Given the description of an element on the screen output the (x, y) to click on. 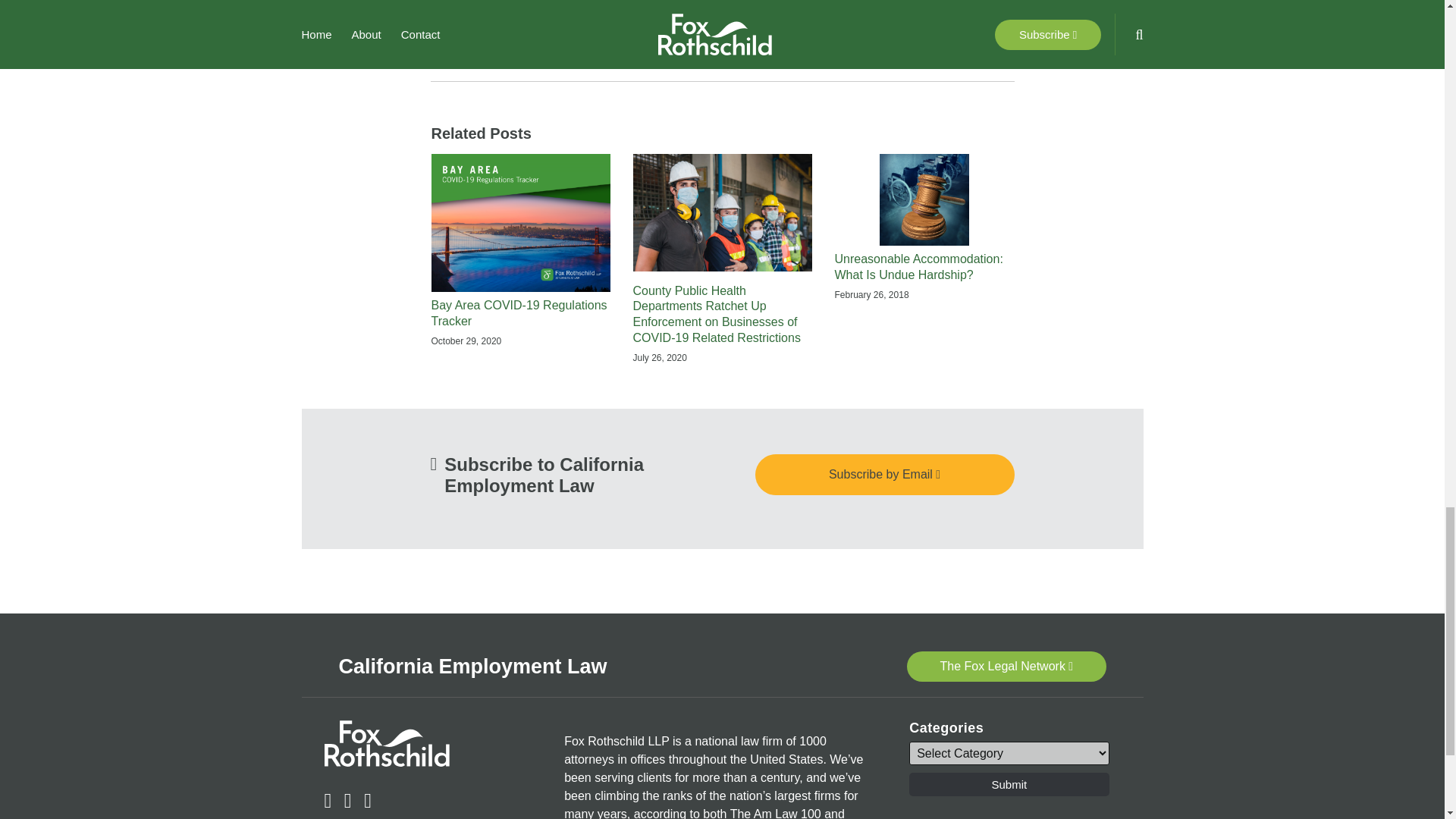
Bay Area COVID-19 Regulations Tracker (520, 314)
Unreasonable Accommodation: What Is Undue Hardship? (923, 267)
California Employment Law (472, 666)
The Fox Legal Network (1006, 666)
Submit (1008, 784)
Subscribe by Email (884, 473)
